Given the description of an element on the screen output the (x, y) to click on. 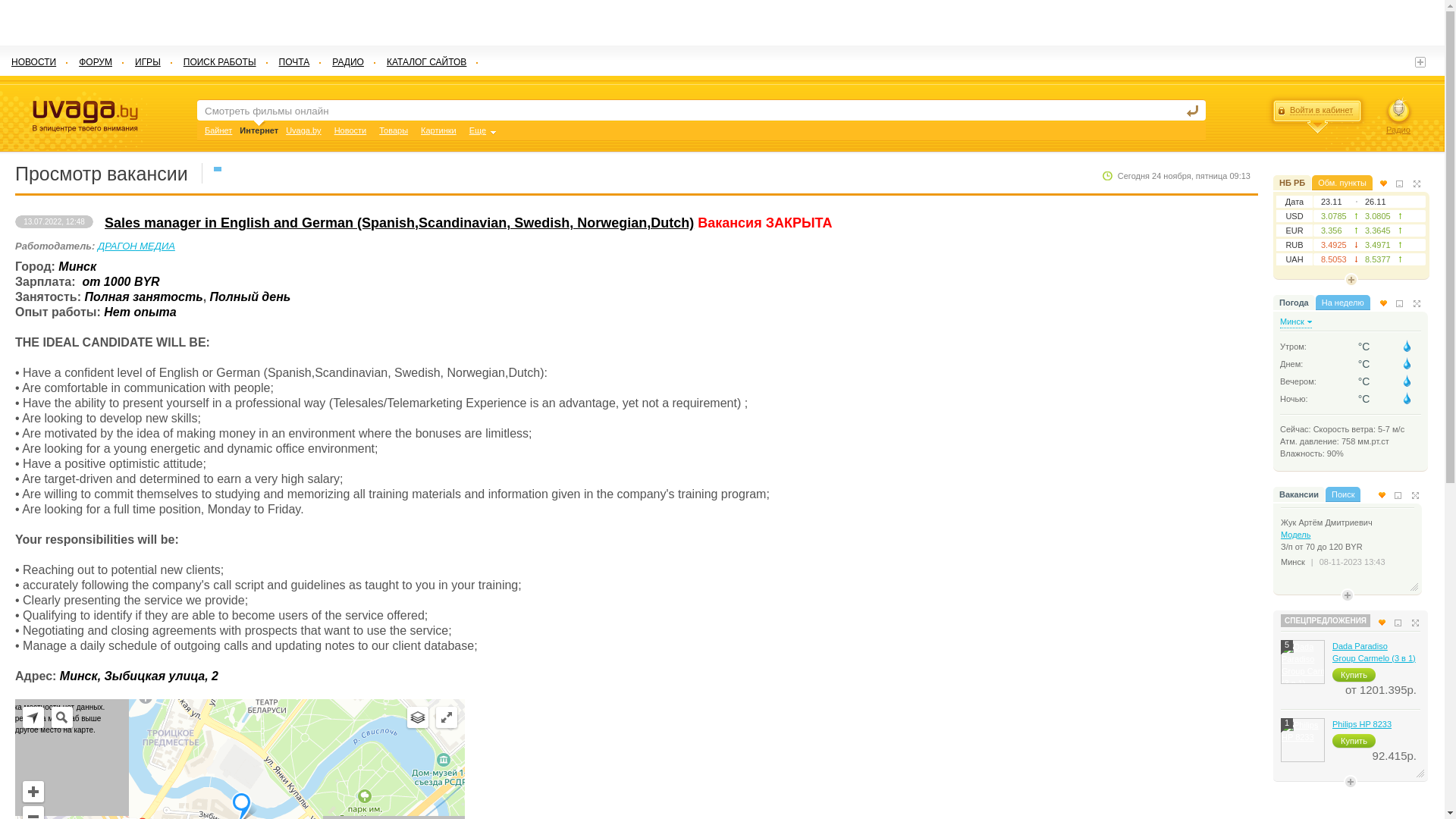
  Element type: hover (1406, 398)
Philips HP 8233 Element type: text (1361, 723)
1 Element type: text (1302, 740)
  Element type: hover (1406, 363)
  Element type: hover (1406, 380)
Uvaga.by Element type: text (303, 130)
  Element type: hover (1406, 345)
5 Element type: text (1302, 662)
